Given the description of an element on the screen output the (x, y) to click on. 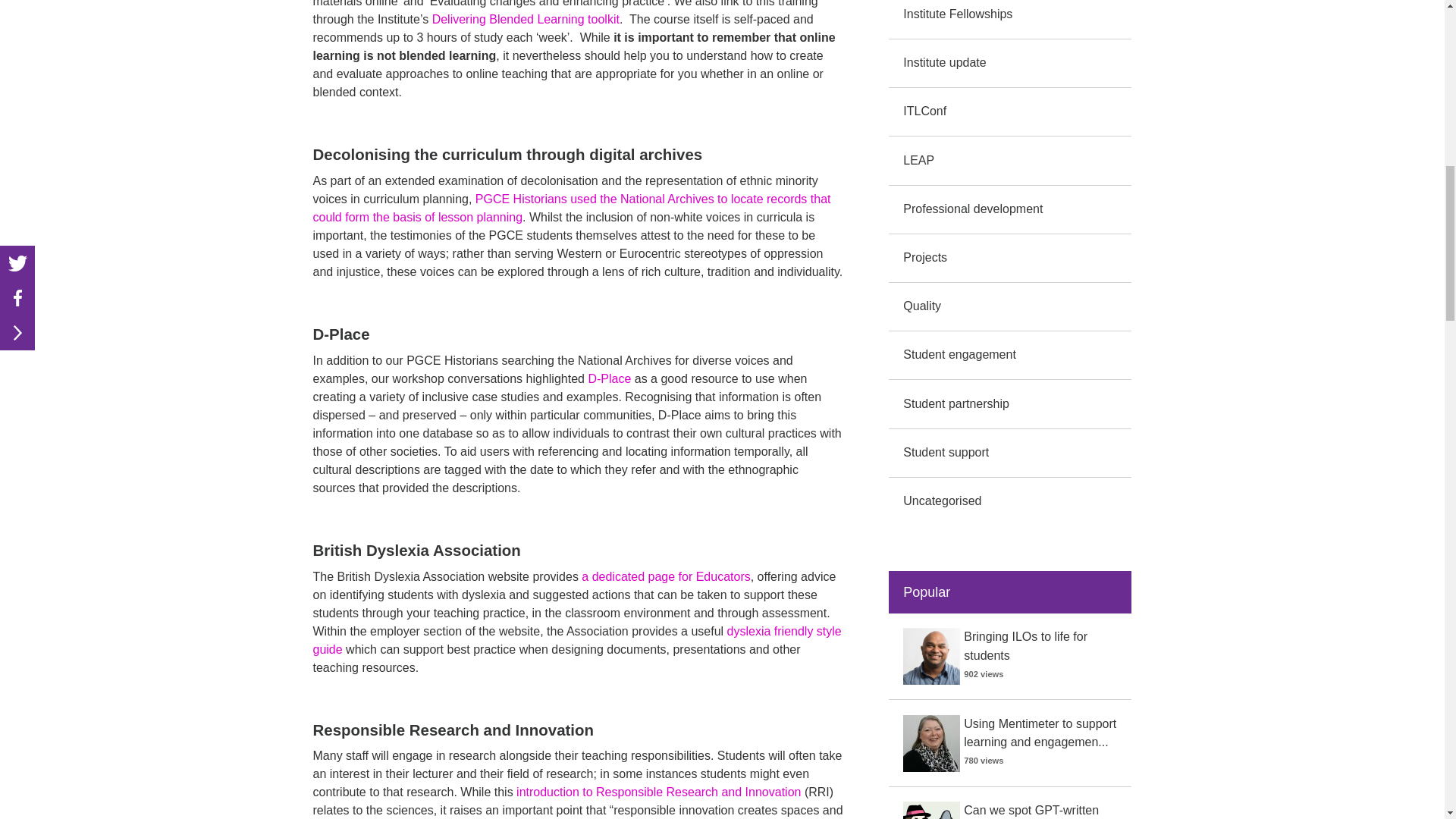
dyslexia friendly style guide (577, 640)
introduction to Responsible Research and Innovation (658, 791)
Bringing ILOs to life for students (1025, 645)
Can we spot GPT-written content? (1031, 811)
D-Place (609, 378)
Institute Fellowships (956, 13)
a dedicated page for Educators (664, 576)
Delivering Blended Learning toolkit (526, 19)
